Given the description of an element on the screen output the (x, y) to click on. 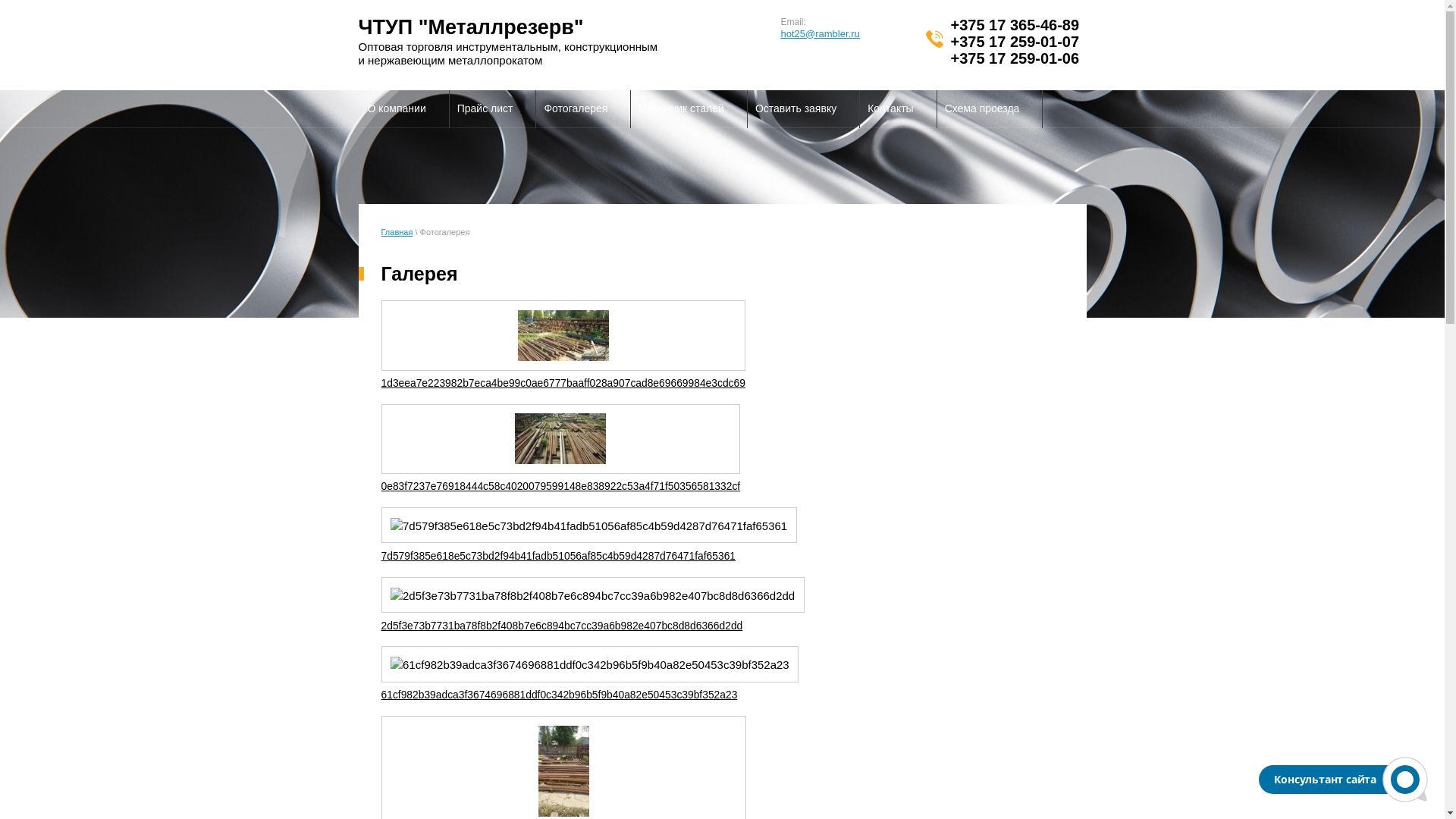
+375 17 259-01-07 Element type: text (1014, 41)
+375 17 259-01-06 Element type: text (1014, 58)
hot25@rambler.ru Element type: text (820, 32)
+375 17 365-46-89 Element type: text (1014, 24)
